Given the description of an element on the screen output the (x, y) to click on. 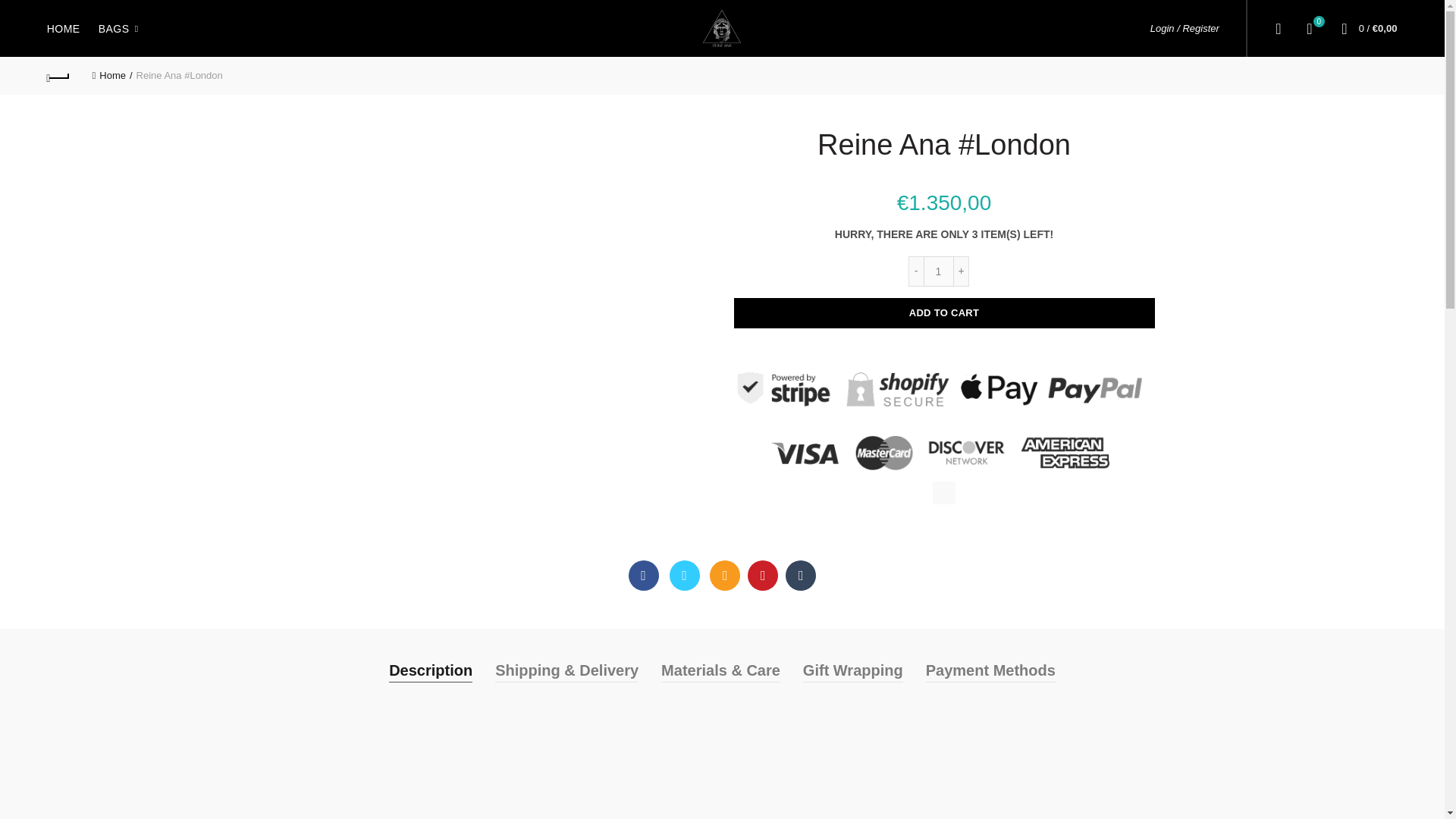
Pinterest (762, 575)
Twitter (683, 575)
Email (724, 575)
HOME (63, 27)
Facebook (643, 575)
Qty (938, 271)
1 (938, 271)
Home (112, 75)
Back (1309, 27)
ADD TO CART (59, 75)
BAGS (943, 313)
